Given the description of an element on the screen output the (x, y) to click on. 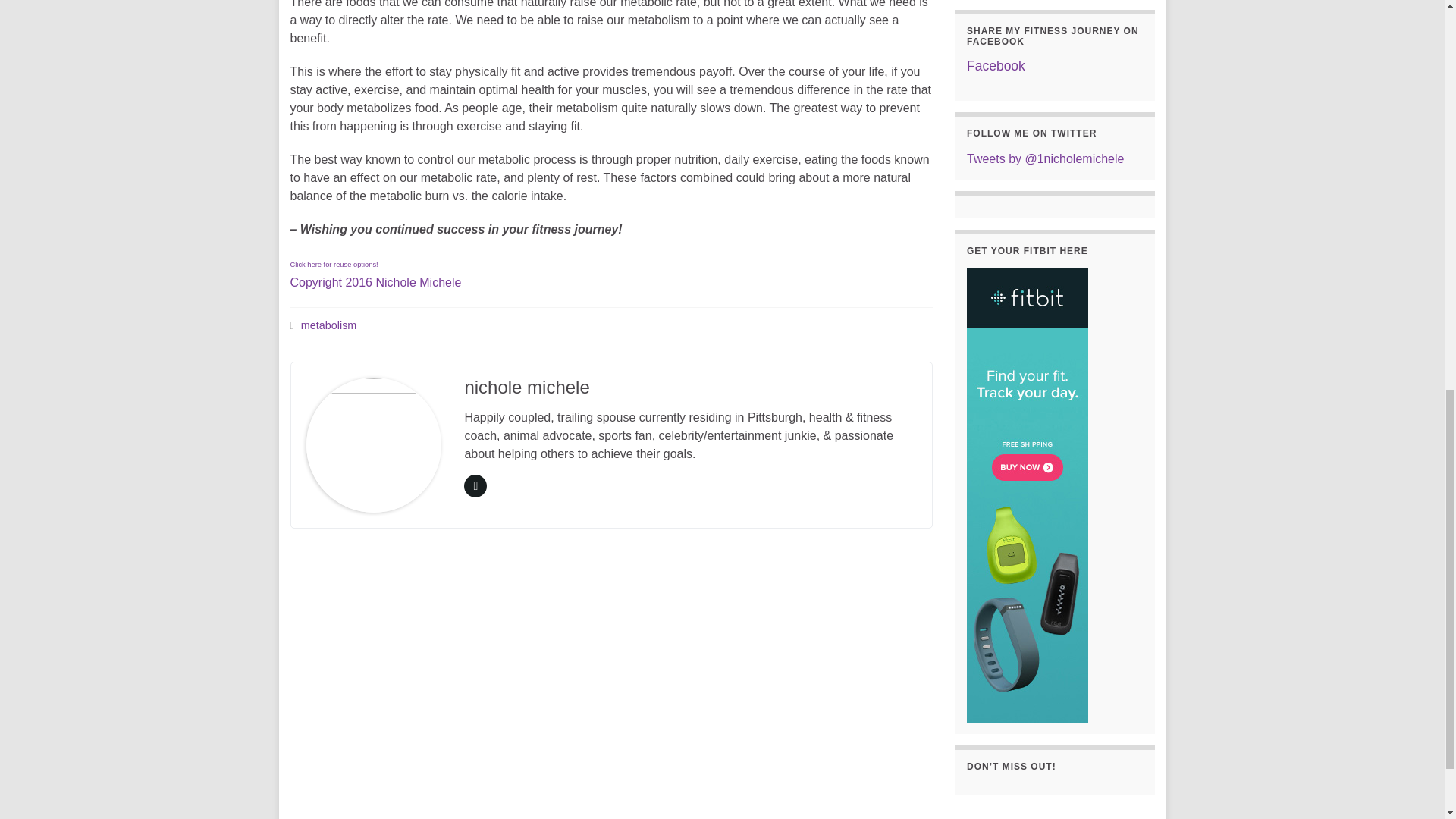
Facebook (995, 65)
metabolism (375, 272)
